Given the description of an element on the screen output the (x, y) to click on. 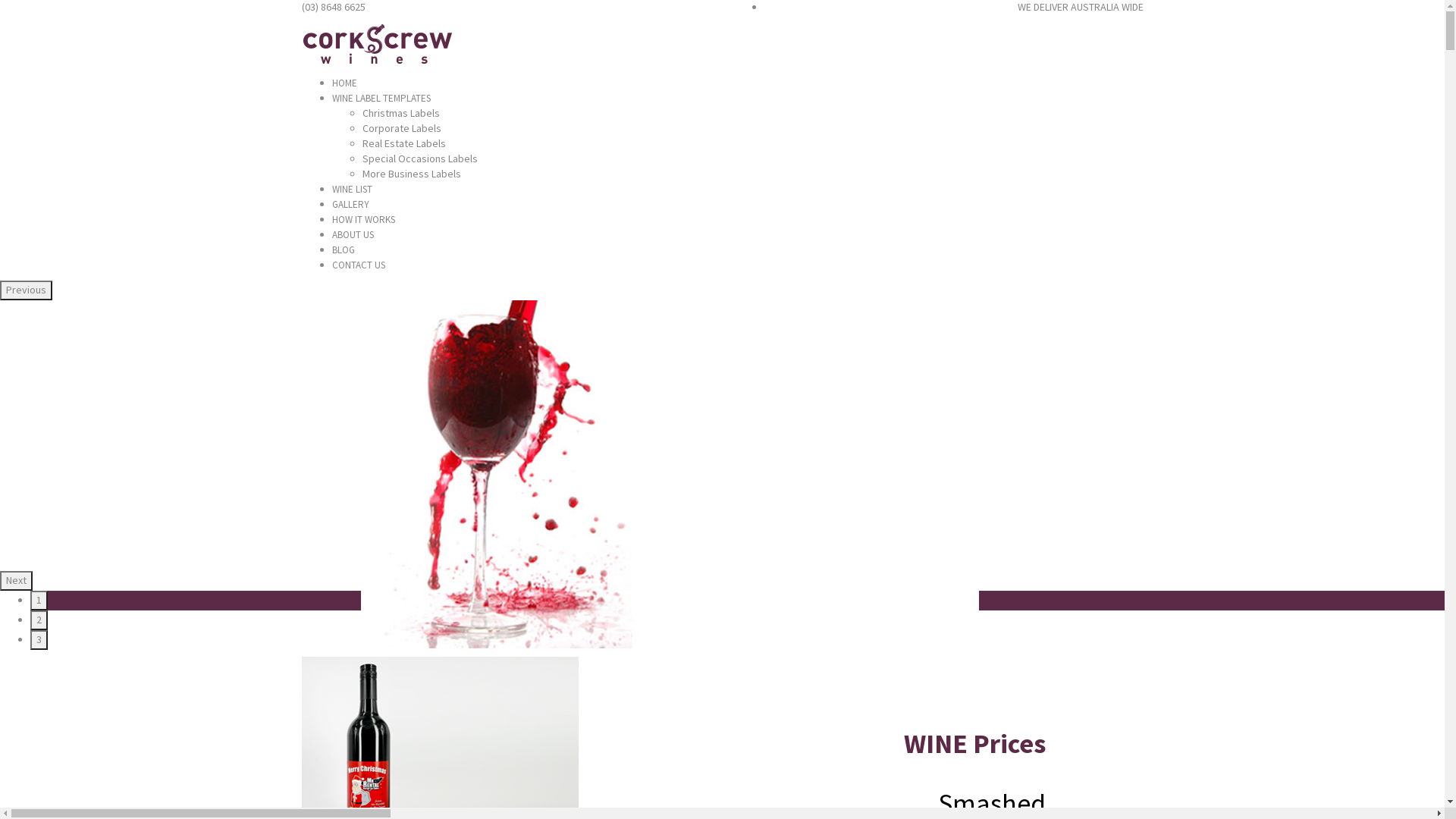
1 Element type: text (38, 600)
Corporate Labels Element type: text (401, 127)
HOME Element type: text (344, 82)
BLOG Element type: text (343, 249)
2 Element type: text (38, 620)
ABOUT US Element type: text (352, 234)
Real Estate Labels Element type: text (403, 143)
WE DELIVER AUSTRALIA WIDE Element type: text (1080, 6)
More Business Labels Element type: text (411, 173)
GALLERY Element type: text (350, 203)
WINE LABEL TEMPLATES Element type: text (381, 97)
Previous Element type: text (26, 290)
HOW IT WORKS Element type: text (363, 219)
Christmas Labels Element type: text (400, 112)
3 Element type: text (38, 639)
CONTACT US Element type: text (358, 264)
Special Occasions Labels Element type: text (419, 158)
WINE LIST Element type: text (352, 188)
Next Element type: text (16, 580)
